Given the description of an element on the screen output the (x, y) to click on. 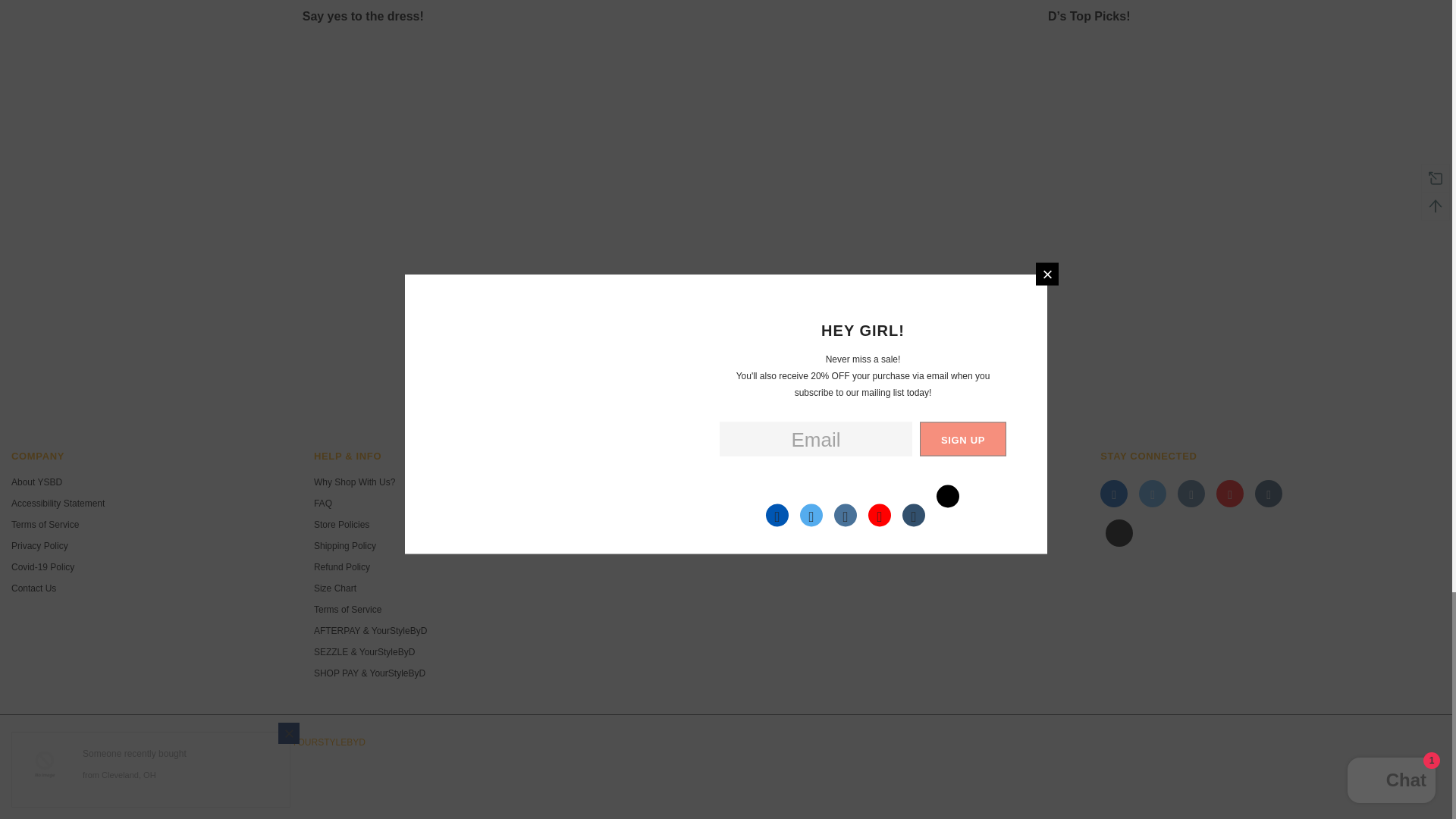
Sign Up (889, 508)
